Given the description of an element on the screen output the (x, y) to click on. 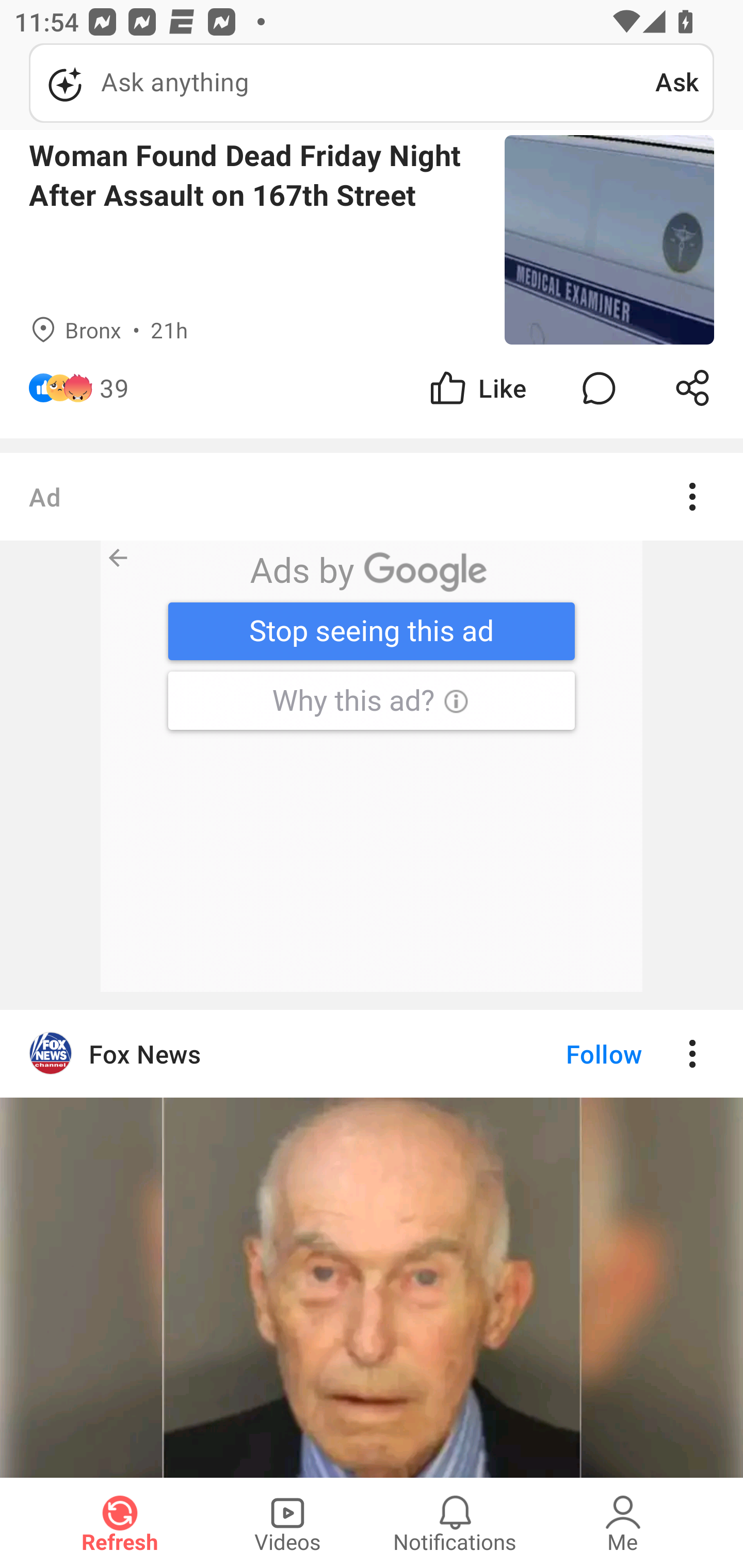
Ask anything (341, 82)
39 (114, 387)
Like (476, 387)
Fox News Follow (371, 1243)
Fox News Follow (371, 1053)
Follow (569, 1053)
Videos (287, 1522)
Notifications (455, 1522)
Me (622, 1522)
